Given the description of an element on the screen output the (x, y) to click on. 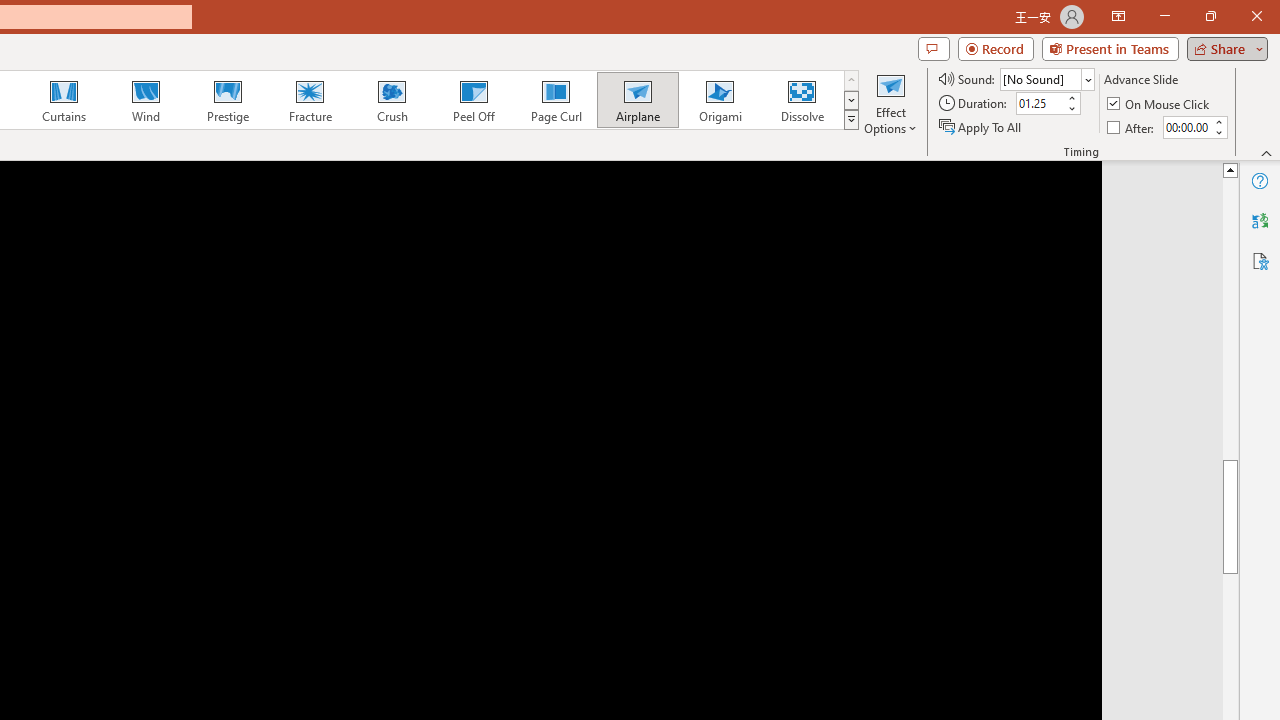
On Mouse Click (1159, 103)
Sound (1046, 78)
Prestige (227, 100)
Crush (391, 100)
Transition Effects (850, 120)
Apply To All (981, 126)
Wind (145, 100)
